Given the description of an element on the screen output the (x, y) to click on. 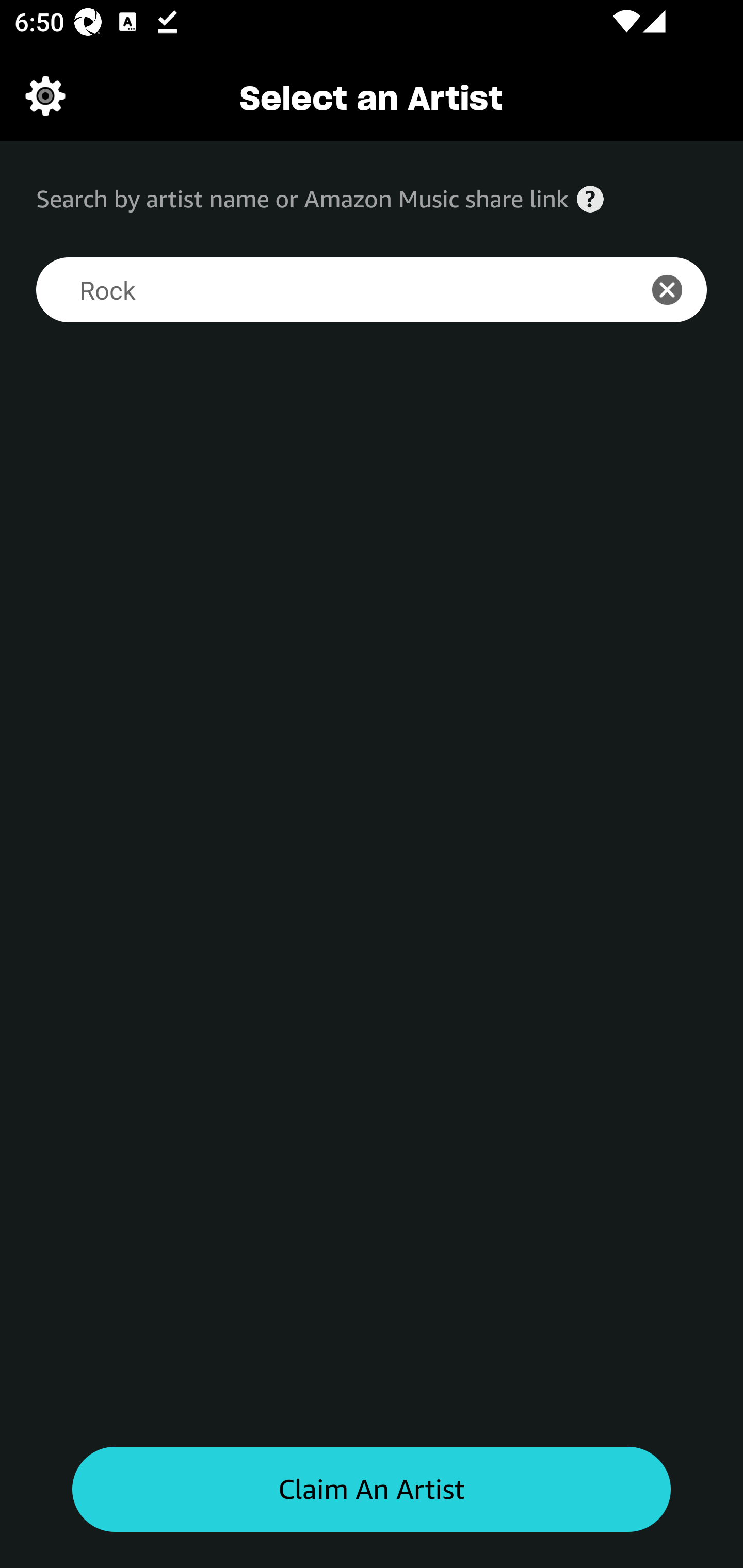
Help  icon (589, 199)
Rock Search for an artist search bar (324, 290)
 icon (677, 290)
Claim an artist button Claim An Artist (371, 1489)
